Given the description of an element on the screen output the (x, y) to click on. 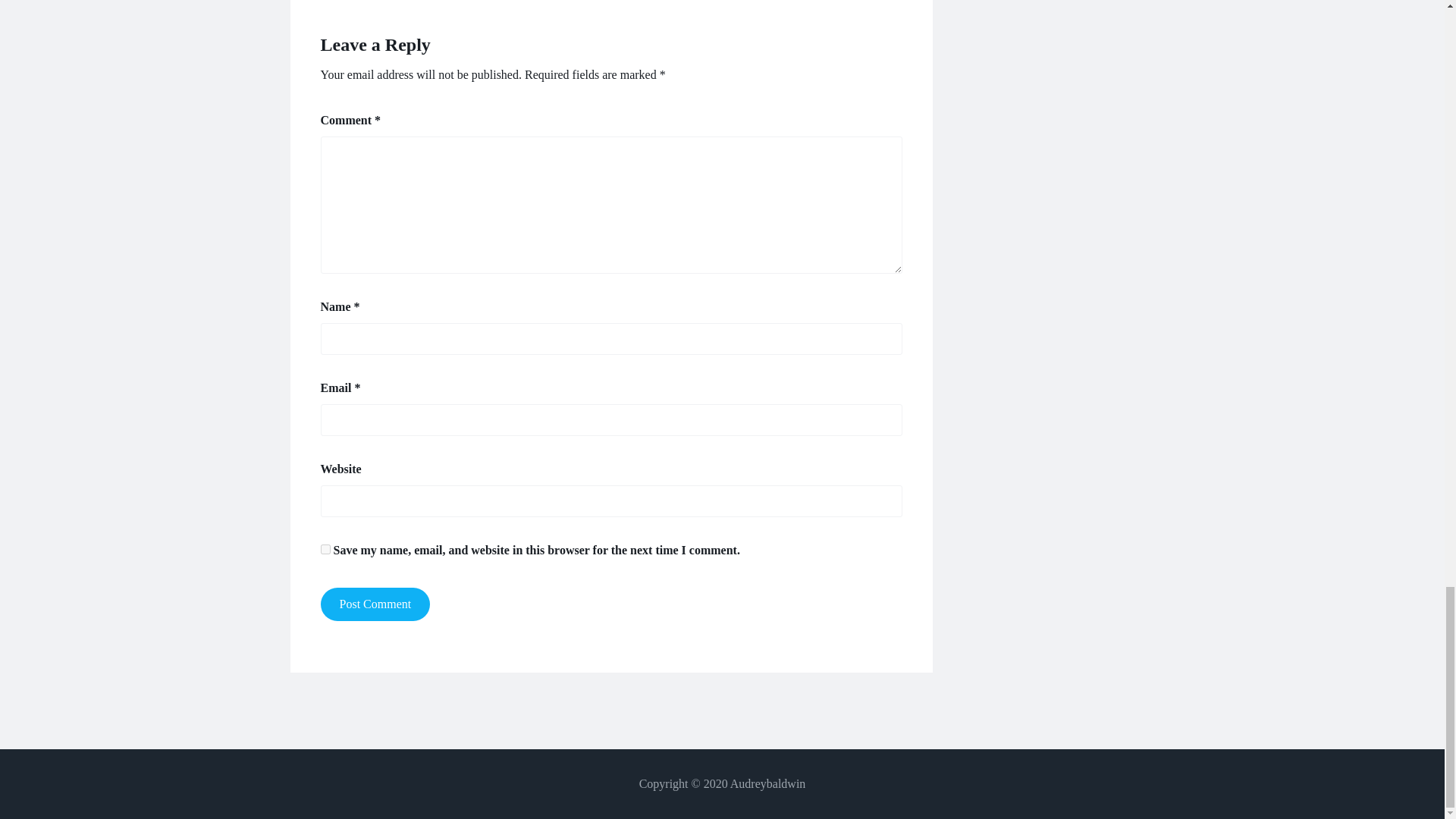
yes (325, 549)
Post Comment (374, 604)
Post Comment (374, 604)
